Given the description of an element on the screen output the (x, y) to click on. 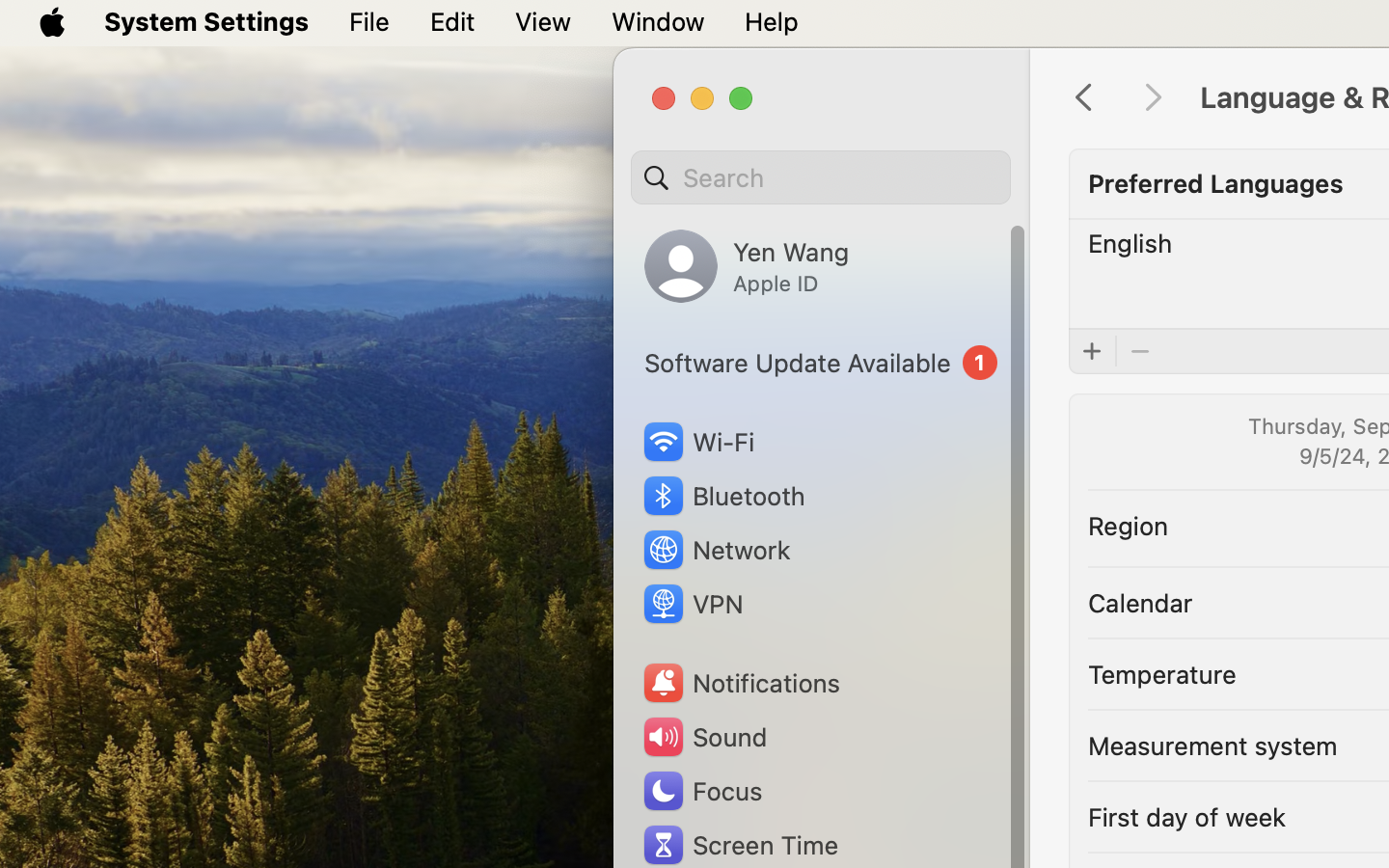
First day of week Element type: AXStaticText (1187, 815)
Calendar Element type: AXStaticText (1140, 601)
Measurement system Element type: AXStaticText (1212, 744)
Focus Element type: AXStaticText (701, 790)
Network Element type: AXStaticText (715, 549)
